Given the description of an element on the screen output the (x, y) to click on. 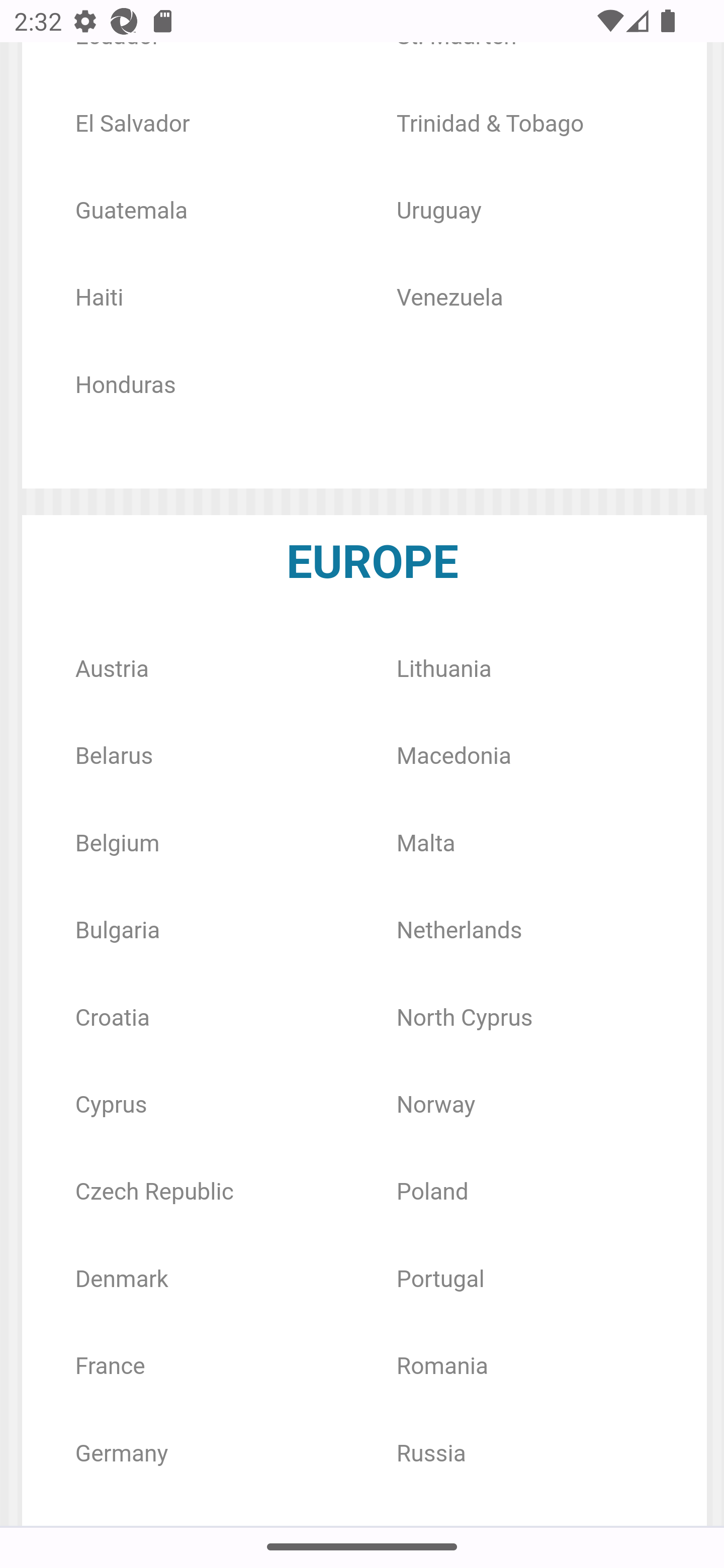
El Salvador (132, 125)
Trinidad & Tobago (490, 125)
Guatemala (130, 213)
Uruguay (439, 213)
Haiti (98, 299)
Venezuela (449, 299)
Honduras (125, 387)
Austria (111, 670)
Lithuania (444, 670)
Belarus (113, 757)
Macedonia (453, 757)
Belgium (116, 843)
Malta (425, 843)
Bulgaria (117, 931)
Netherlands (459, 931)
Croatia (112, 1018)
North Cyprus (464, 1018)
Cyprus (110, 1105)
Norway (436, 1105)
Czech Republic (153, 1193)
Poland (432, 1193)
Denmark (120, 1280)
Portugal (440, 1280)
France (109, 1368)
Romania (442, 1368)
Germany (120, 1455)
Russia (431, 1455)
